Given the description of an element on the screen output the (x, y) to click on. 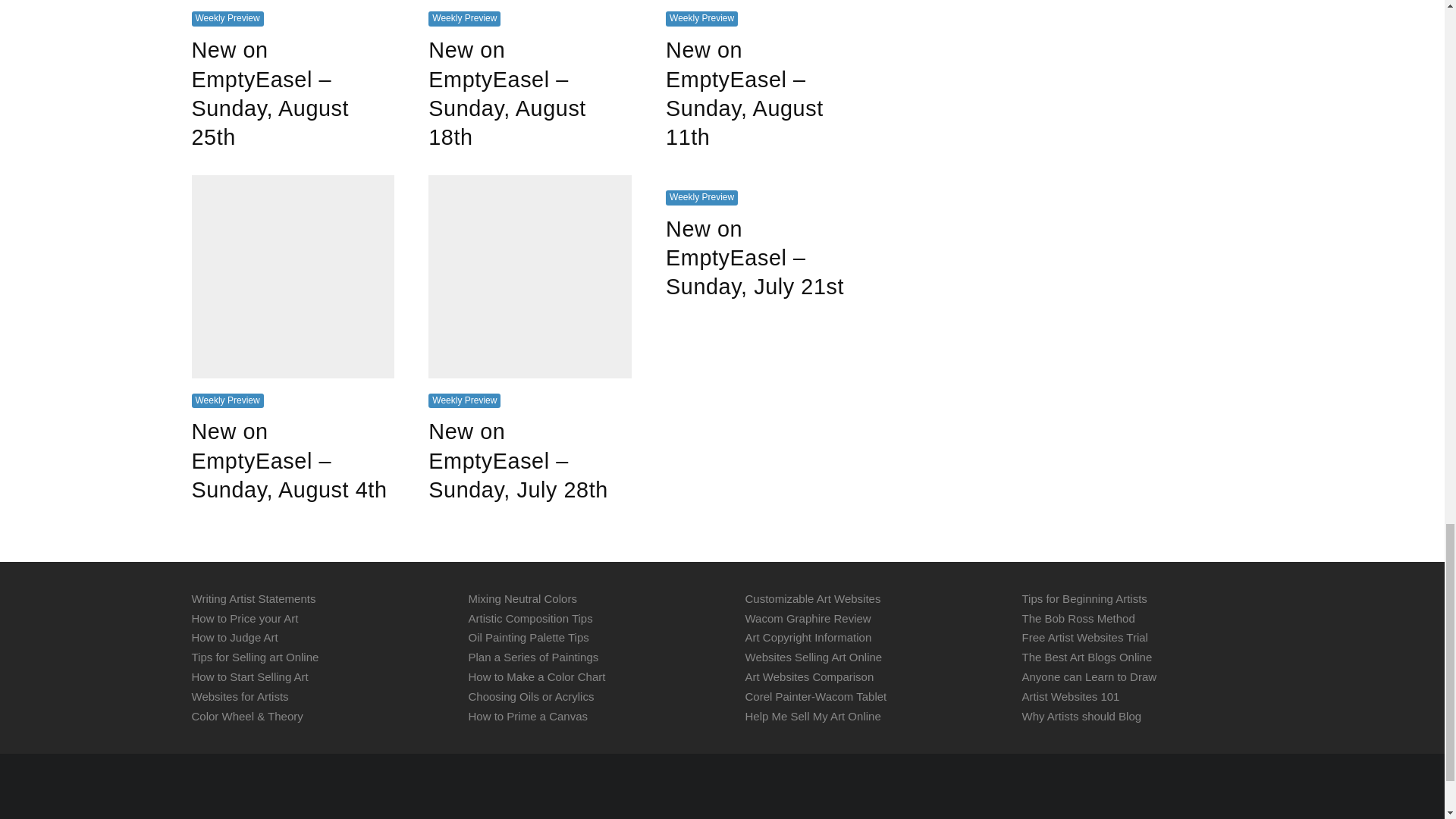
How to judge art: Five qualities you can critique (234, 636)
Article on how to mix neutral colors like brown and black (522, 598)
How to create a simple color chart (536, 676)
How to write a good artists statement and resume (252, 598)
Artist websites that actually help you sell art online (239, 696)
Nine steps to creating better compositions (530, 617)
